Given the description of an element on the screen output the (x, y) to click on. 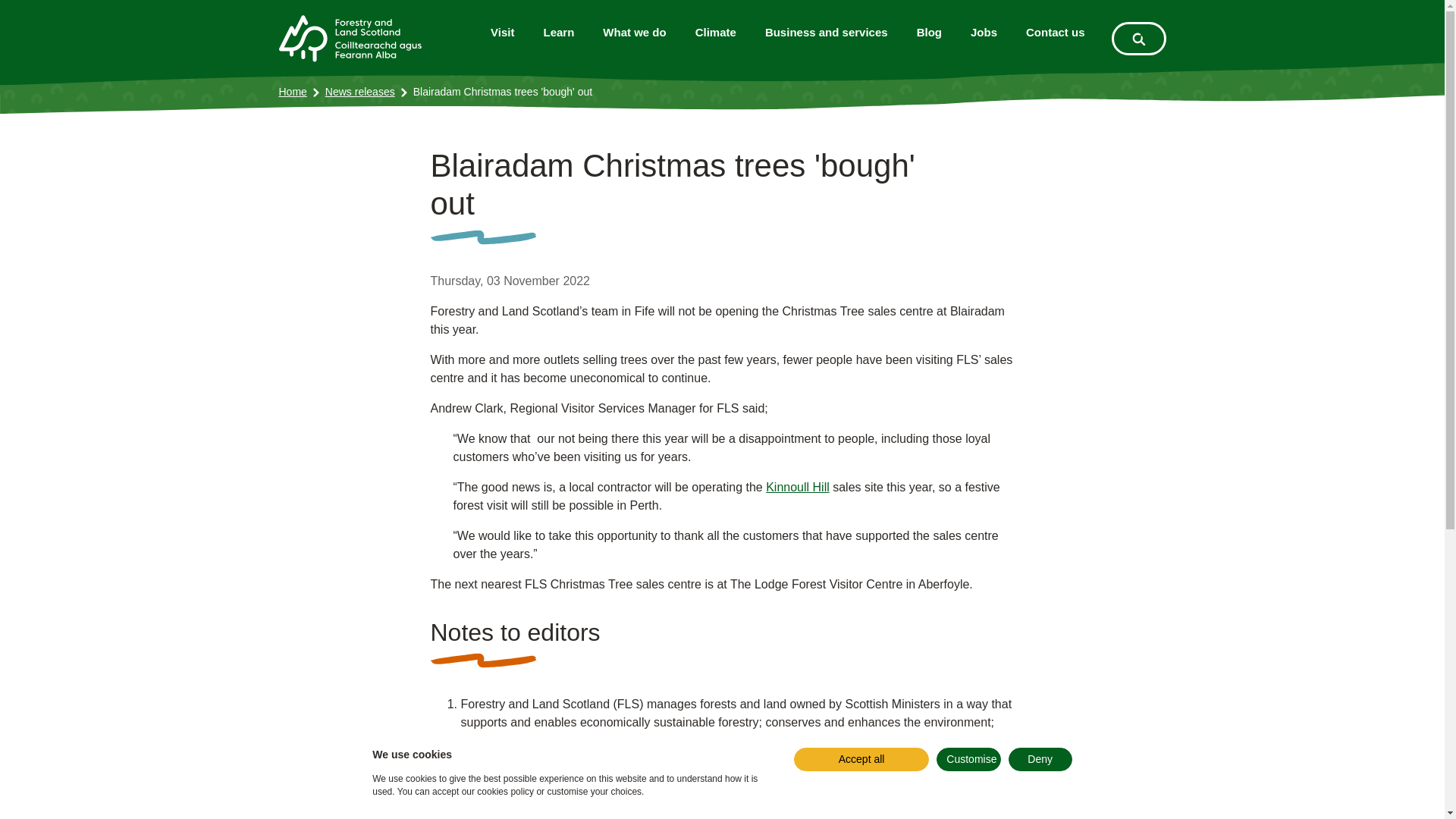
Forestry and Land Scotland Logo (350, 37)
Blog (929, 32)
Customise (968, 759)
Deny (1040, 759)
Learn (559, 32)
Visit (502, 32)
Home (293, 91)
Business and services (826, 32)
forestryandland.gov.scot (526, 788)
Accept all (860, 759)
Forestry and Land Scotland Logo (350, 38)
Contact us (1055, 32)
Climate (716, 32)
Jobs (983, 32)
News releases (359, 91)
